Given the description of an element on the screen output the (x, y) to click on. 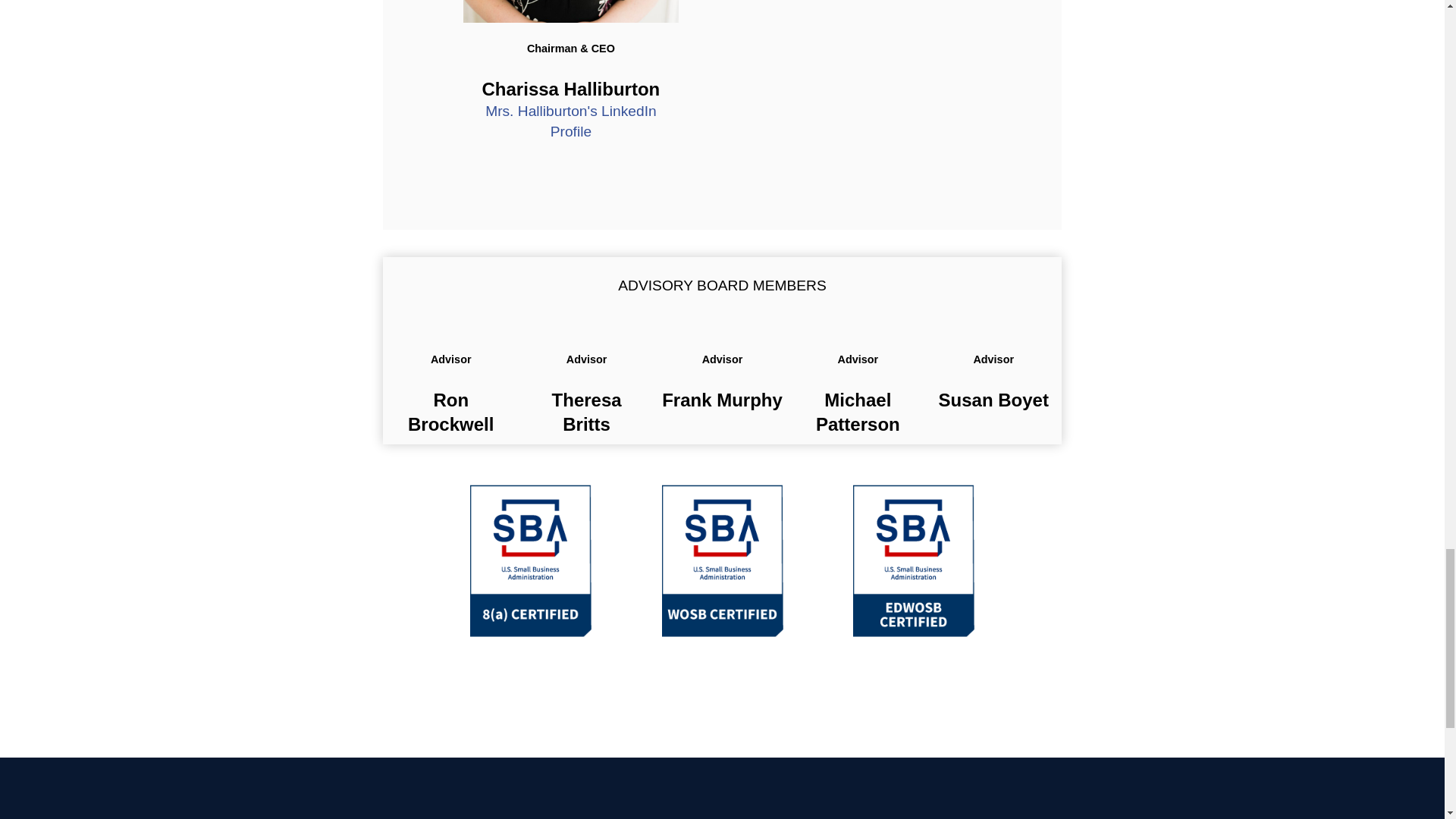
Mrs. Halliburton's LinkedIn Profile (570, 121)
